Given the description of an element on the screen output the (x, y) to click on. 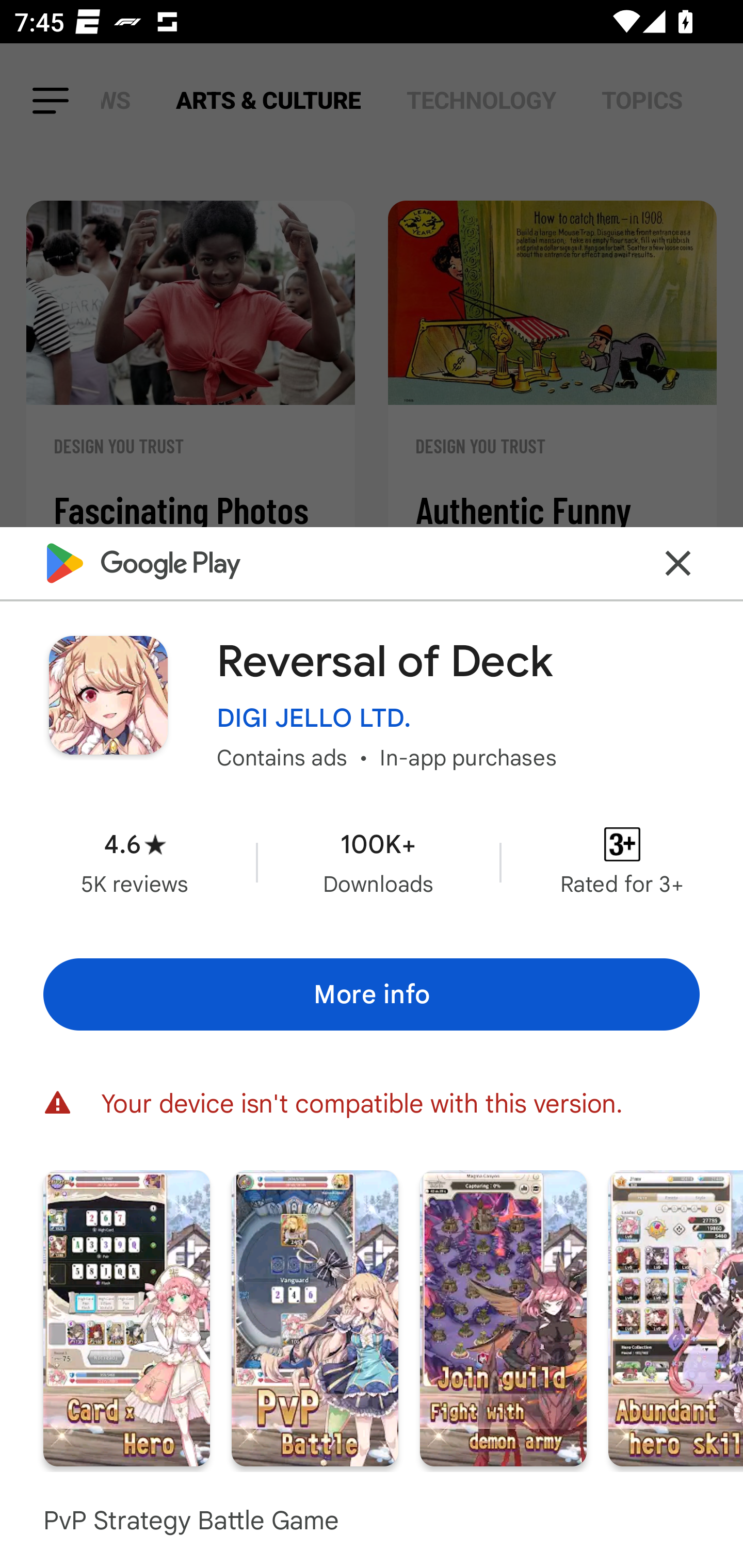
Close (677, 562)
Image of app or game icon for Reversal of Deck (108, 695)
DIGI JELLO LTD. (313, 716)
More info (371, 994)
Screenshot "1" of "5" (126, 1317)
Screenshot "2" of "5" (314, 1317)
Screenshot "3" of "5" (502, 1317)
Screenshot "4" of "5" (675, 1317)
